Given the description of an element on the screen output the (x, y) to click on. 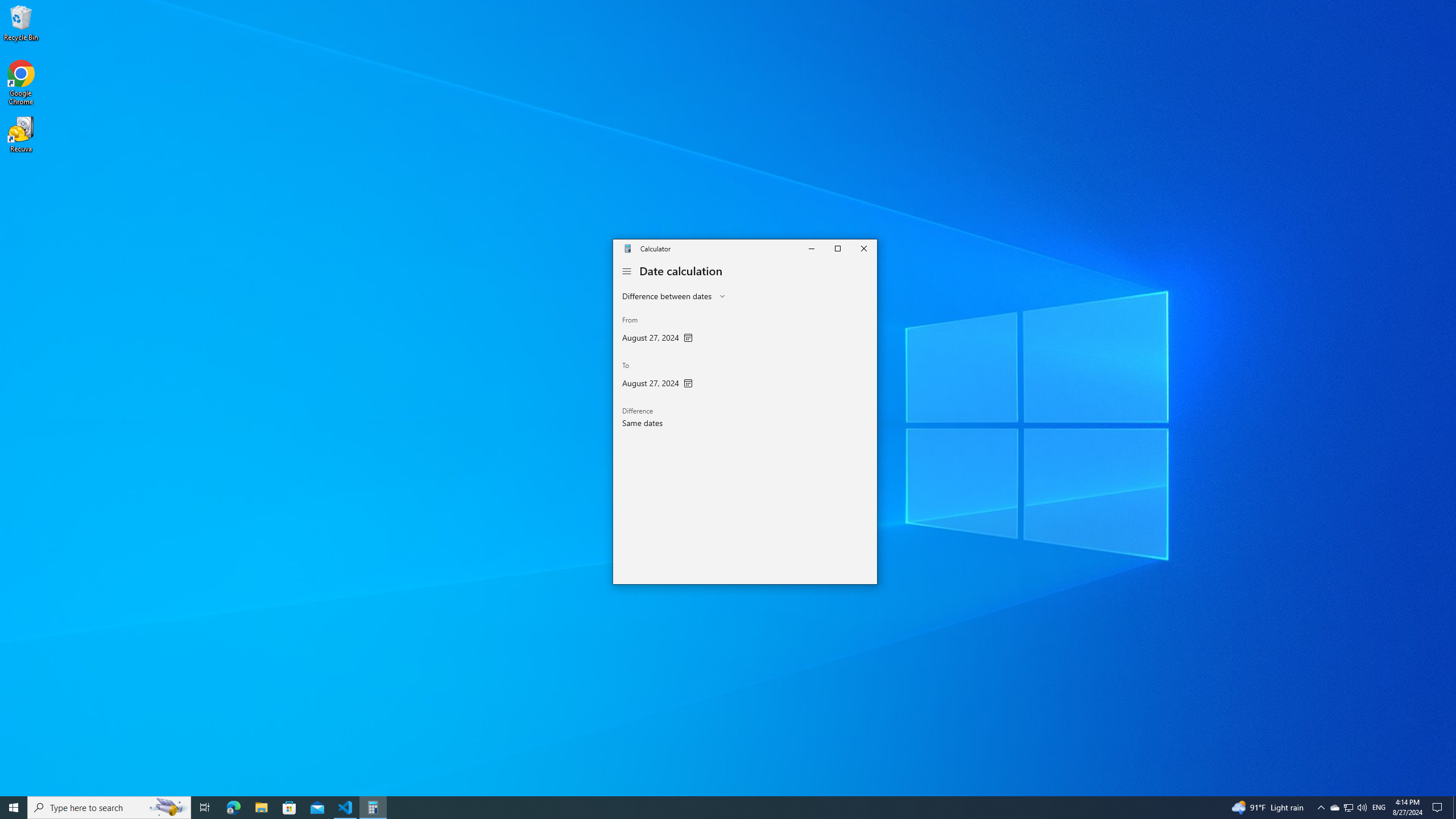
Open Navigation (626, 271)
Calculation mode (673, 296)
